Given the description of an element on the screen output the (x, y) to click on. 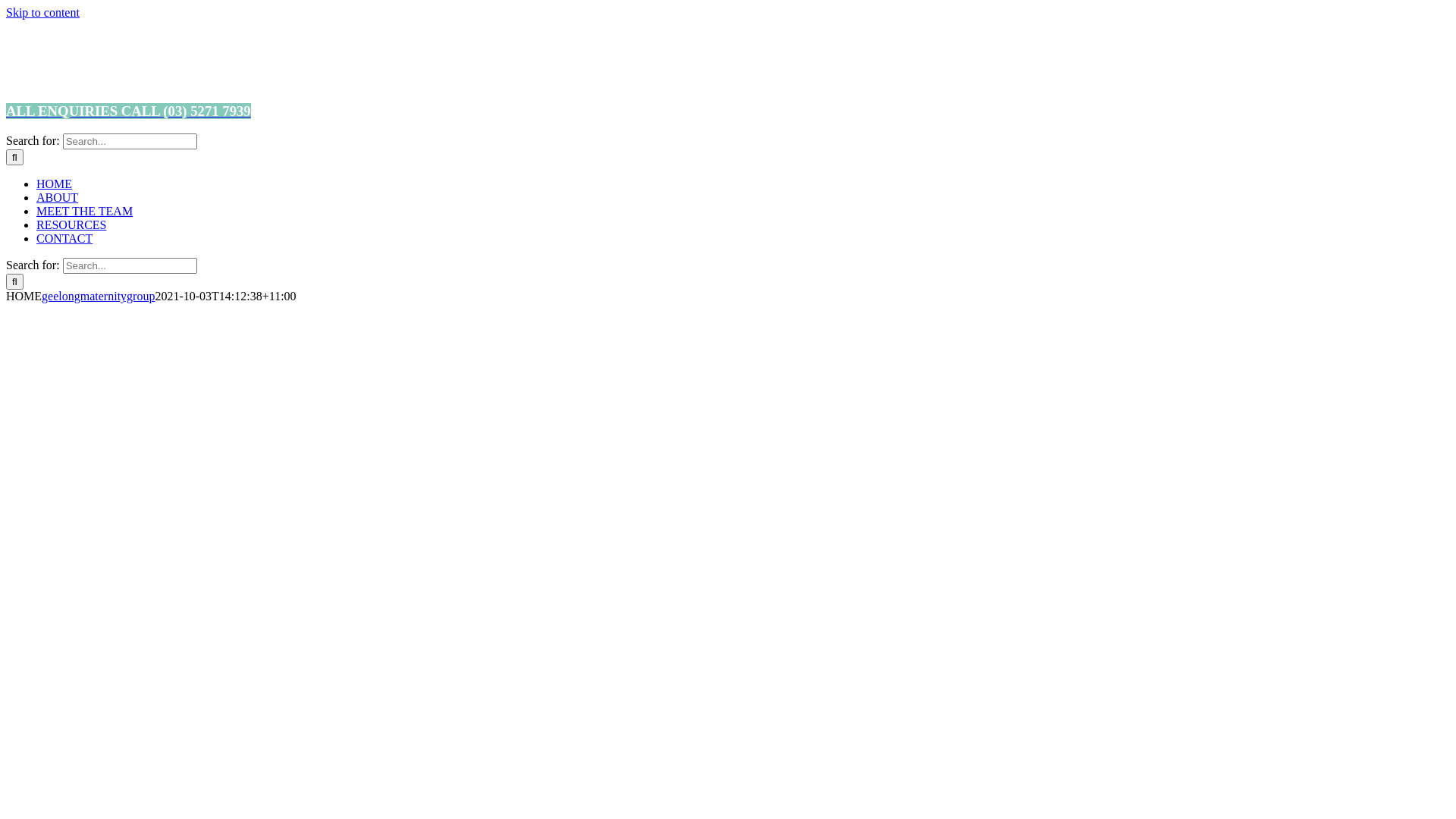
ABOUT Element type: text (57, 197)
geelongmaternitygroup Element type: text (97, 295)
CONTACT Element type: text (64, 238)
Skip to content Element type: text (42, 12)
MEET THE TEAM Element type: text (84, 210)
RESOURCES Element type: text (71, 224)
HOME Element type: text (54, 183)
ALL ENQUIRIES CALL (03) 5271 7939 Element type: text (128, 111)
